Given the description of an element on the screen output the (x, y) to click on. 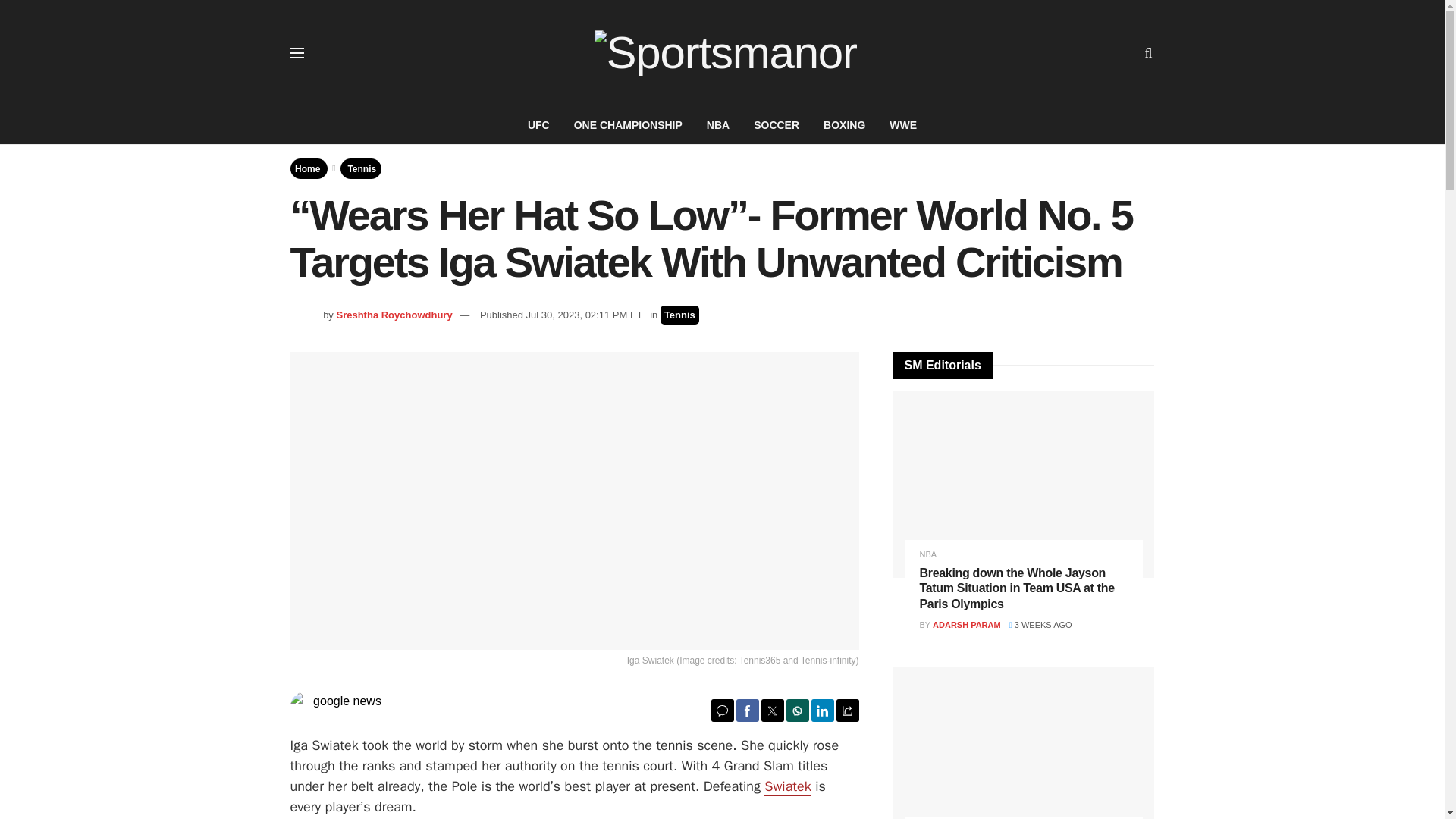
Sreshtha Roychowdhury (393, 315)
Swiatek (787, 787)
ONE CHAMPIONSHIP (628, 125)
UFC (538, 125)
Home (307, 167)
BOXING (843, 125)
Published Jul 30, 2023, 02:11 PM ET (561, 315)
NBA (717, 125)
